Given the description of an element on the screen output the (x, y) to click on. 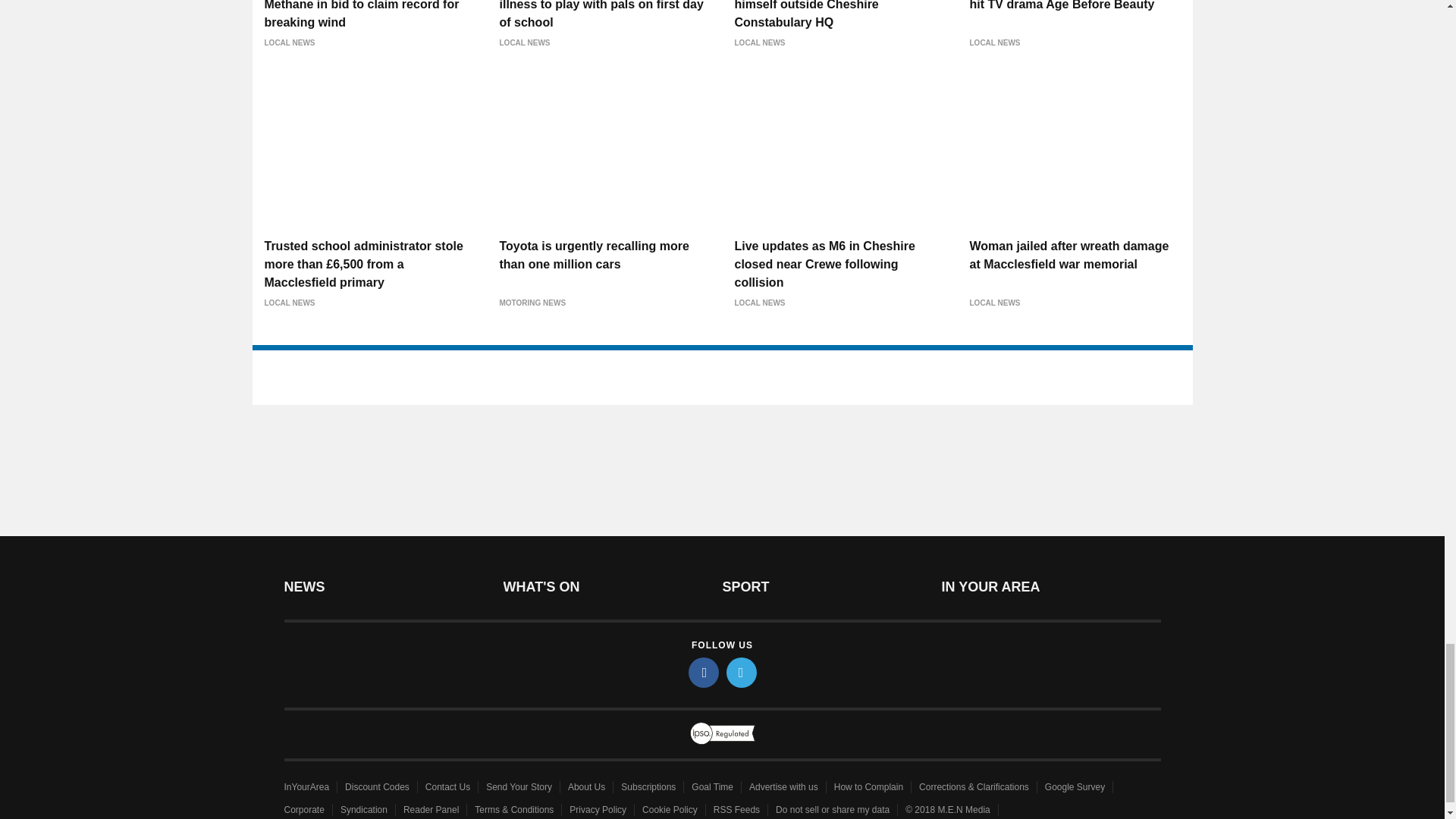
twitter (741, 672)
facebook (703, 672)
